Given the description of an element on the screen output the (x, y) to click on. 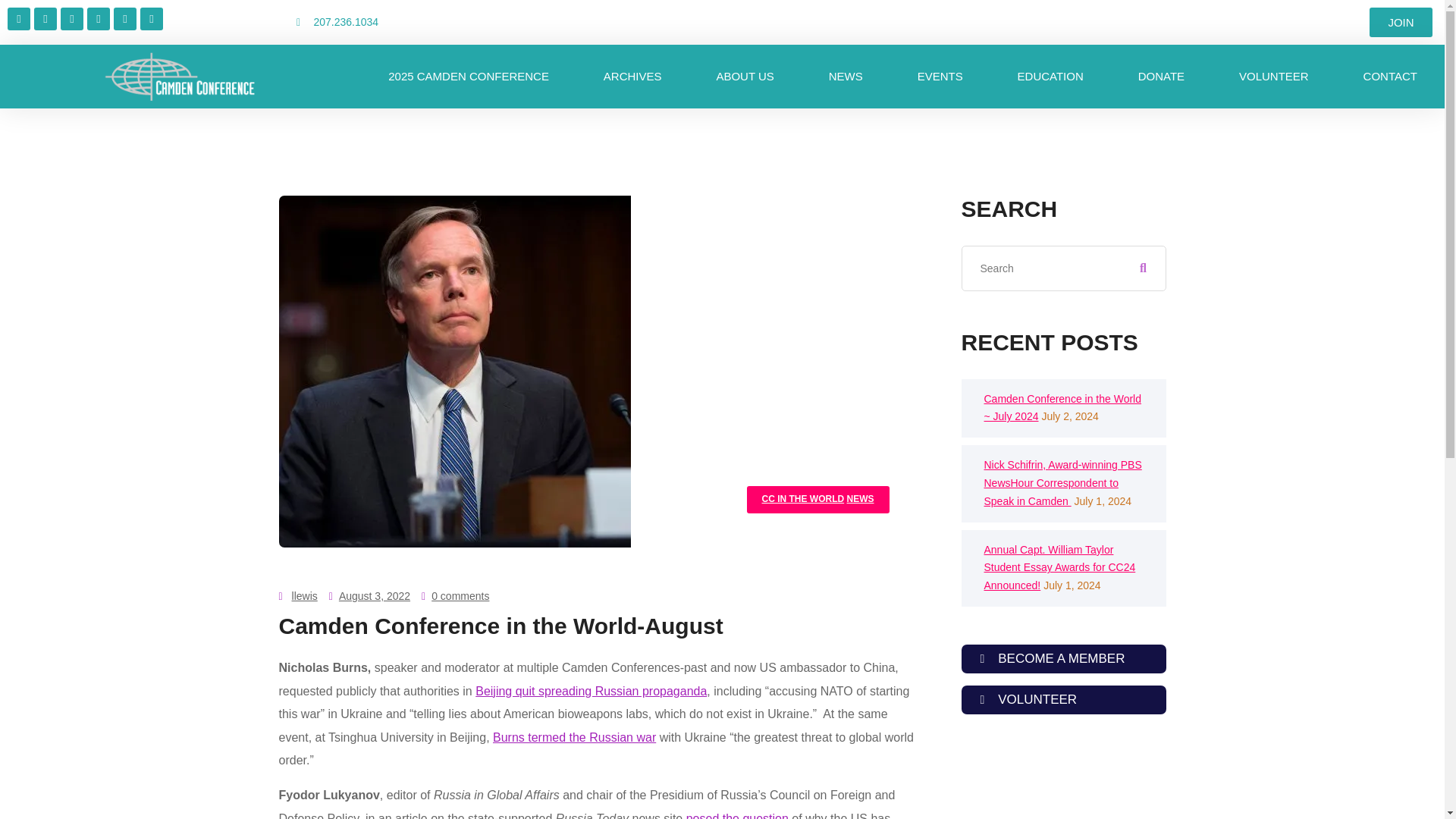
VOLUNTEER (1273, 76)
ABOUT US (744, 76)
NEWS (845, 76)
EVENTS (939, 76)
JOIN (1400, 21)
EDUCATION (1050, 76)
DONATE (1160, 76)
2025 CAMDEN CONFERENCE (468, 76)
207.236.1034 (433, 22)
ARCHIVES (632, 76)
